Given the description of an element on the screen output the (x, y) to click on. 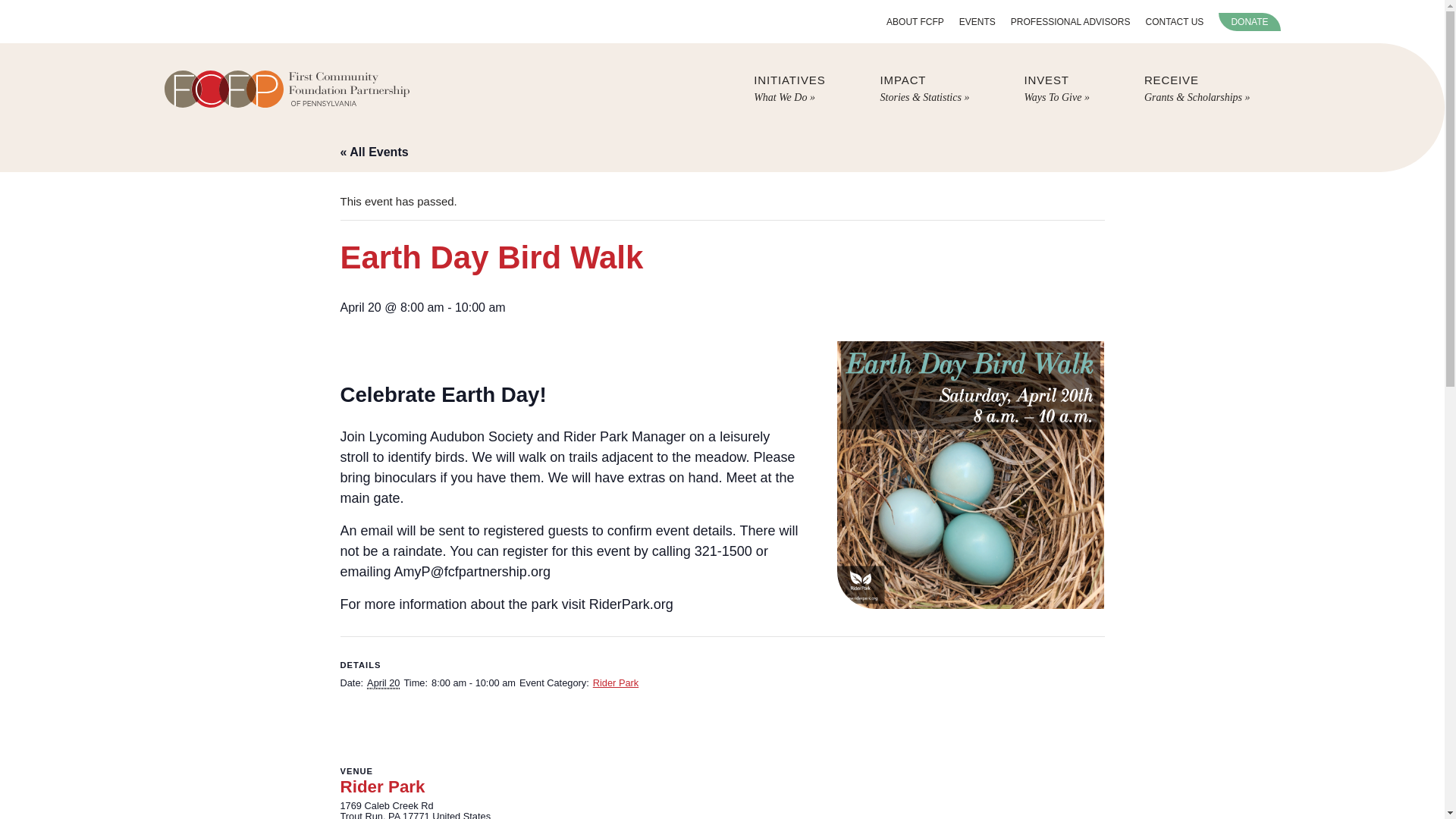
Pennsylvania (393, 814)
PROFESSIONAL ADVISORS (1055, 89)
2024-04-20 (1070, 21)
CONTACT US (472, 683)
ABOUT FCFP (1174, 21)
DONATE (914, 21)
EVENTS (789, 89)
2024-04-20 (1248, 22)
